Given the description of an element on the screen output the (x, y) to click on. 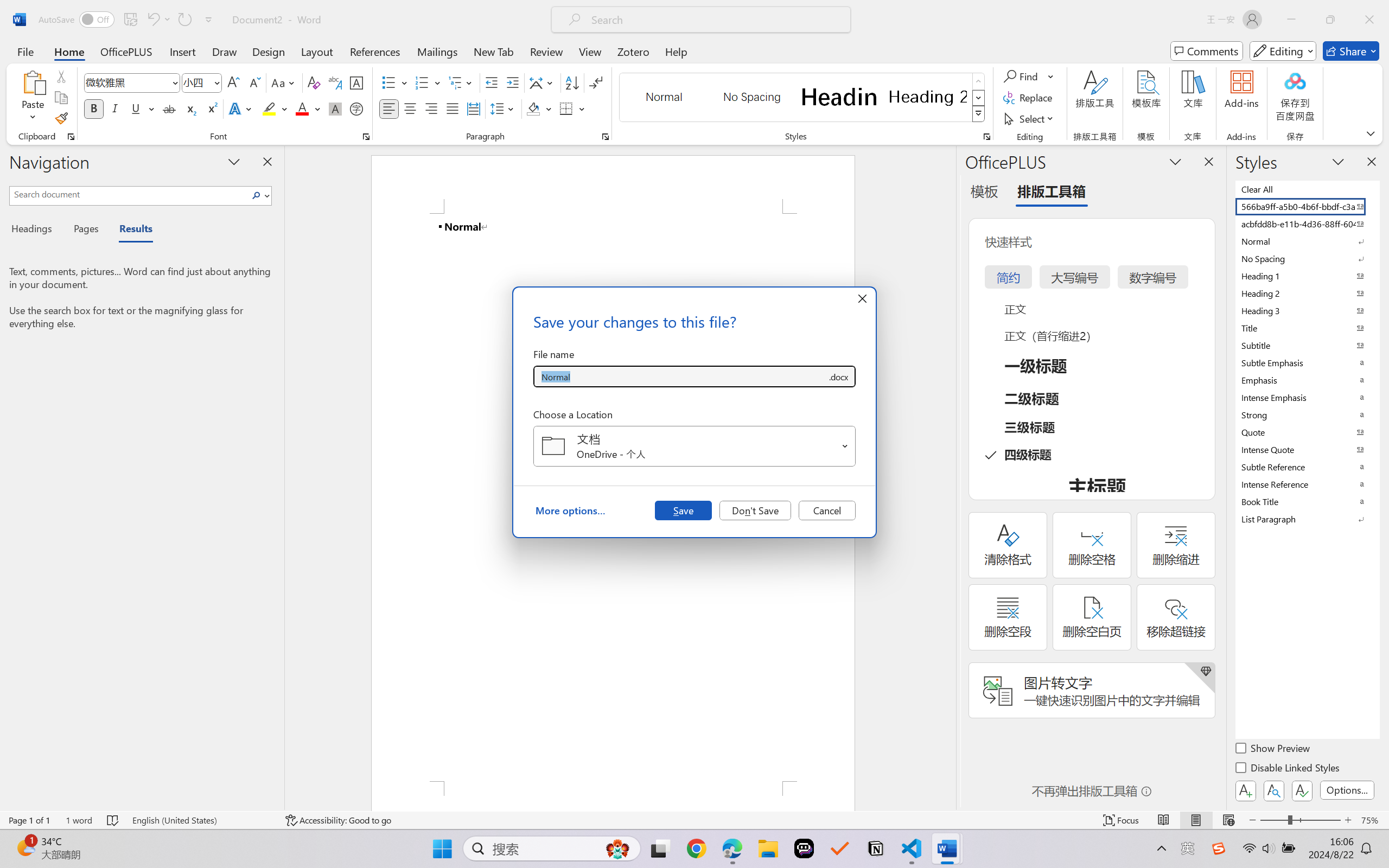
Paste (33, 81)
Borders (566, 108)
Change Case (284, 82)
Share (1350, 51)
File Tab (24, 51)
Home (69, 51)
More Options (1051, 75)
Text Highlight Color Yellow (269, 108)
Draw (224, 51)
Show Preview (1273, 749)
